Given the description of an element on the screen output the (x, y) to click on. 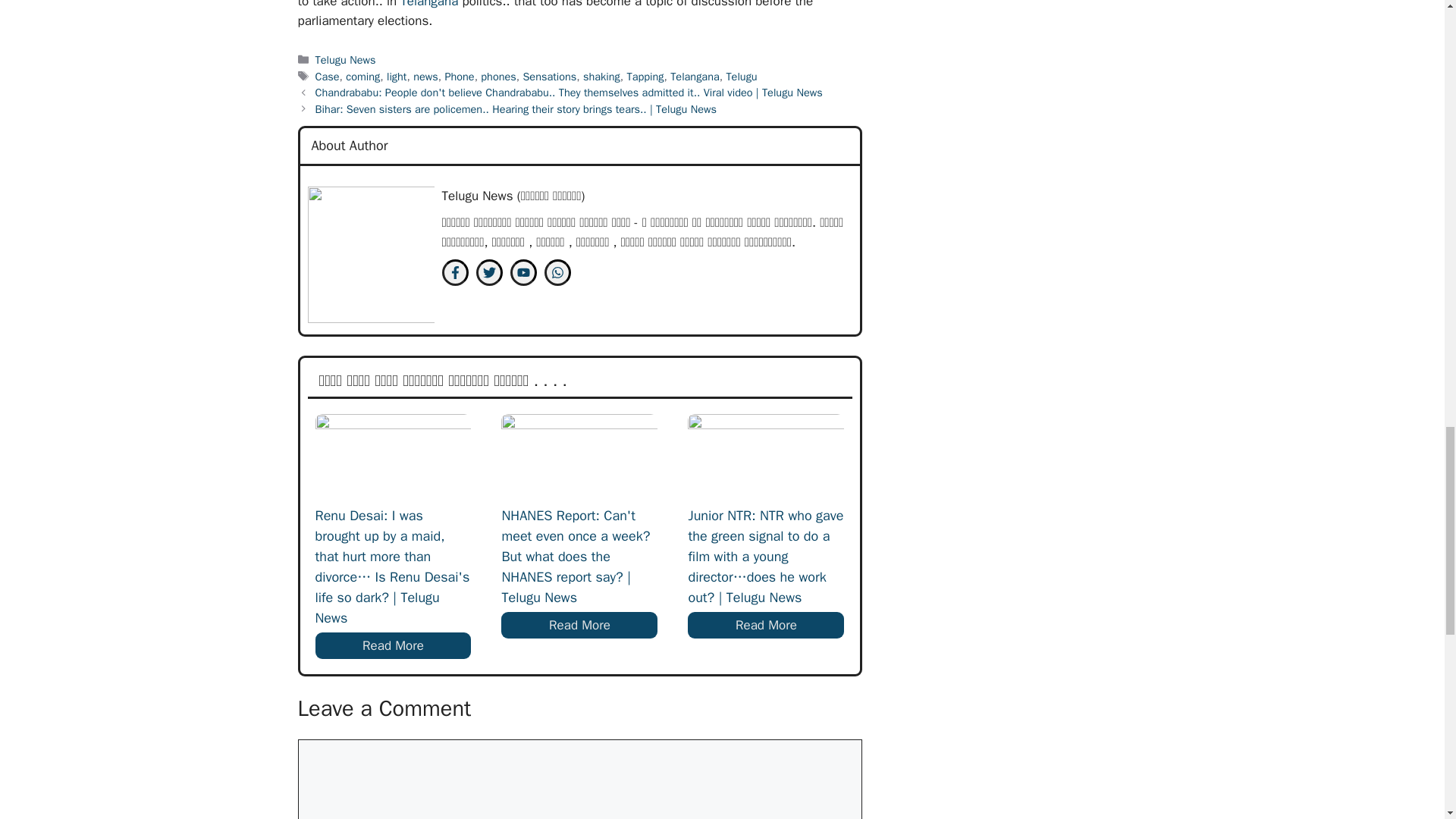
Telangana (694, 76)
Telangana (429, 4)
shaking (601, 76)
phones (497, 76)
light (397, 76)
coming (363, 76)
Telugu (741, 76)
Telugu News (345, 59)
unnamed (370, 254)
Phone (459, 76)
Tapping (644, 76)
news (425, 76)
Case (327, 76)
Sensations (549, 76)
